Given the description of an element on the screen output the (x, y) to click on. 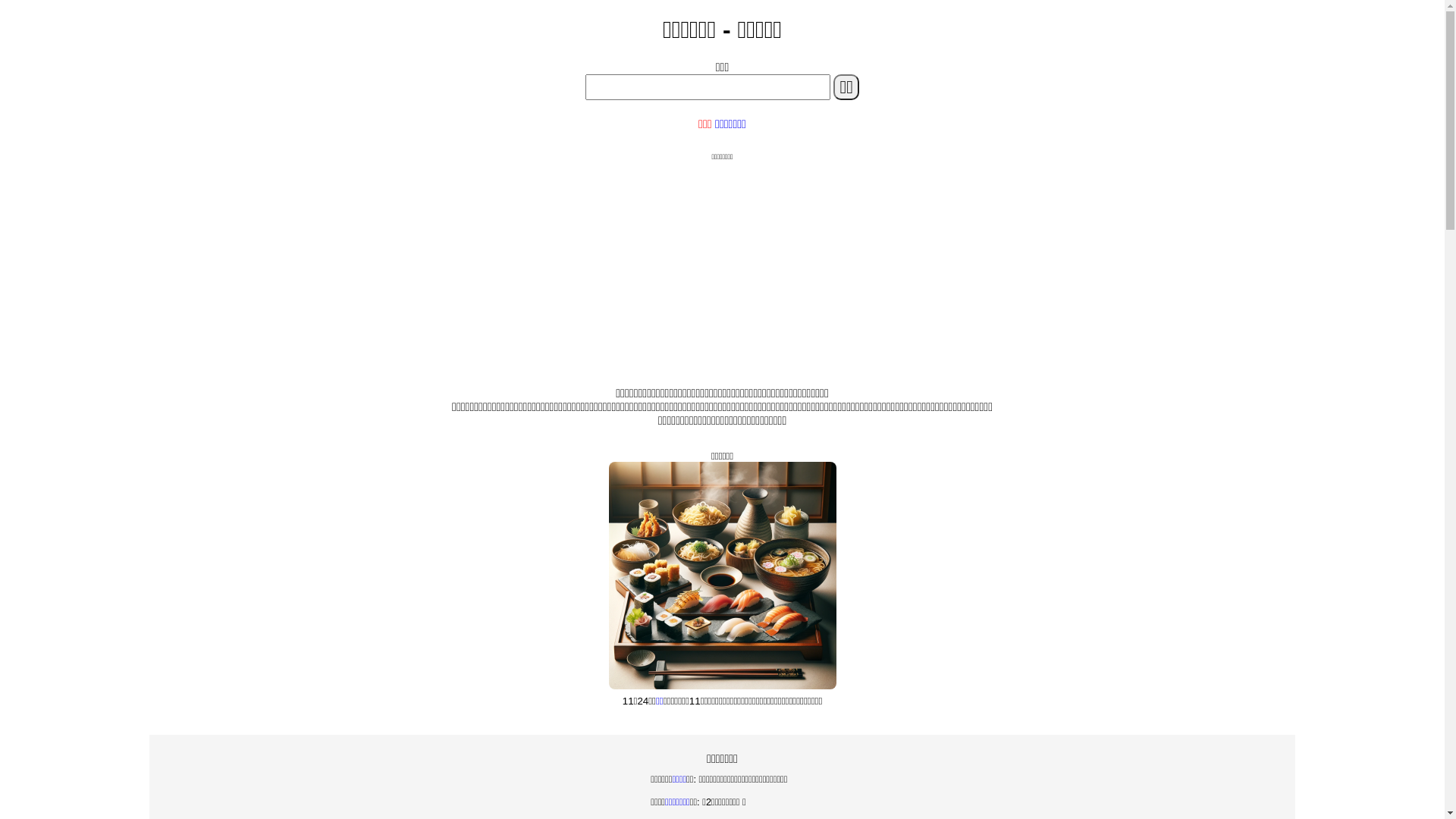
Advertisement Element type: hover (721, 268)
